Given the description of an element on the screen output the (x, y) to click on. 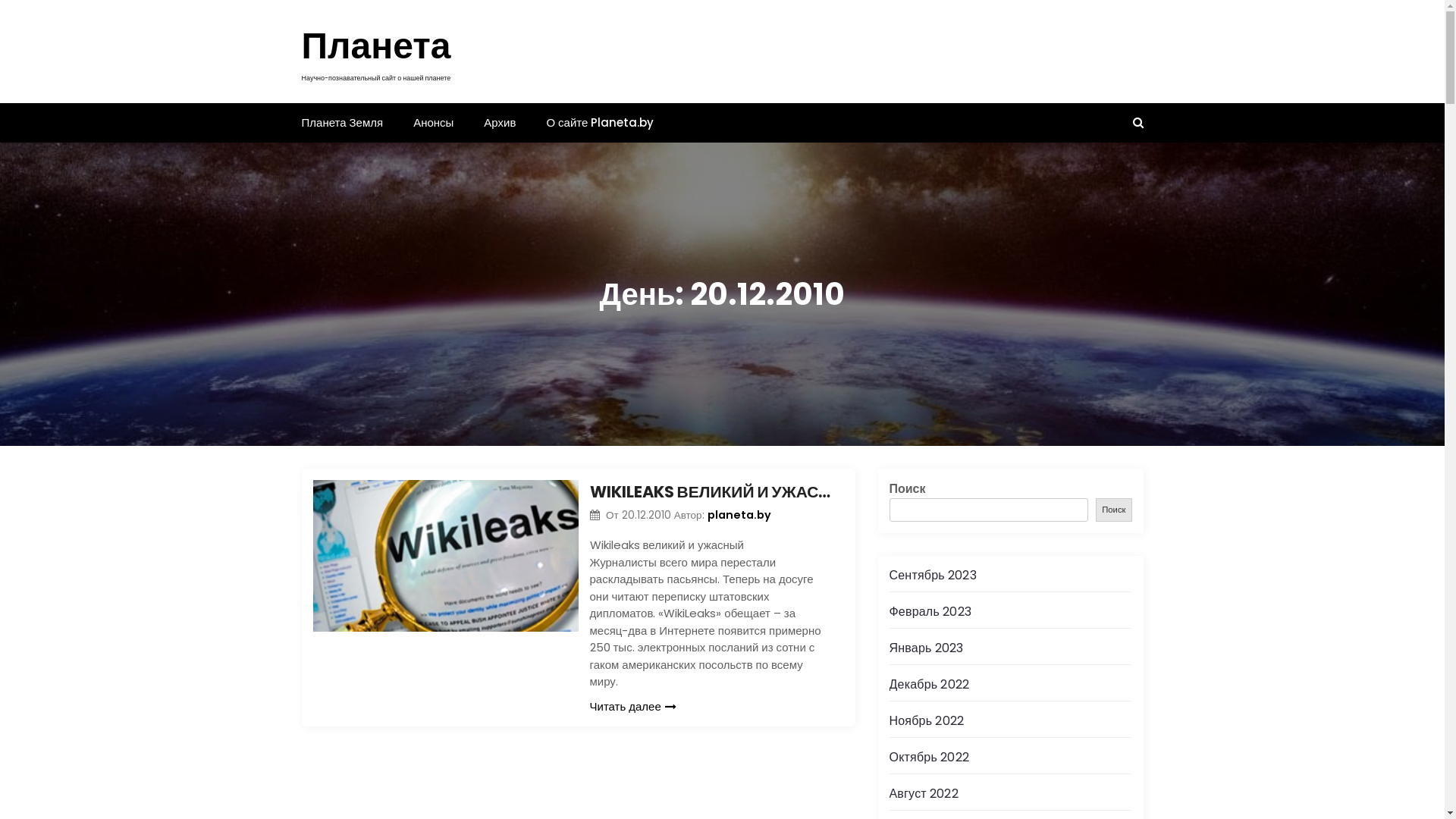
planeta.by Element type: text (739, 513)
Circular focus Element type: text (1443, 100)
20.12.2010 Element type: text (647, 515)
